Given the description of an element on the screen output the (x, y) to click on. 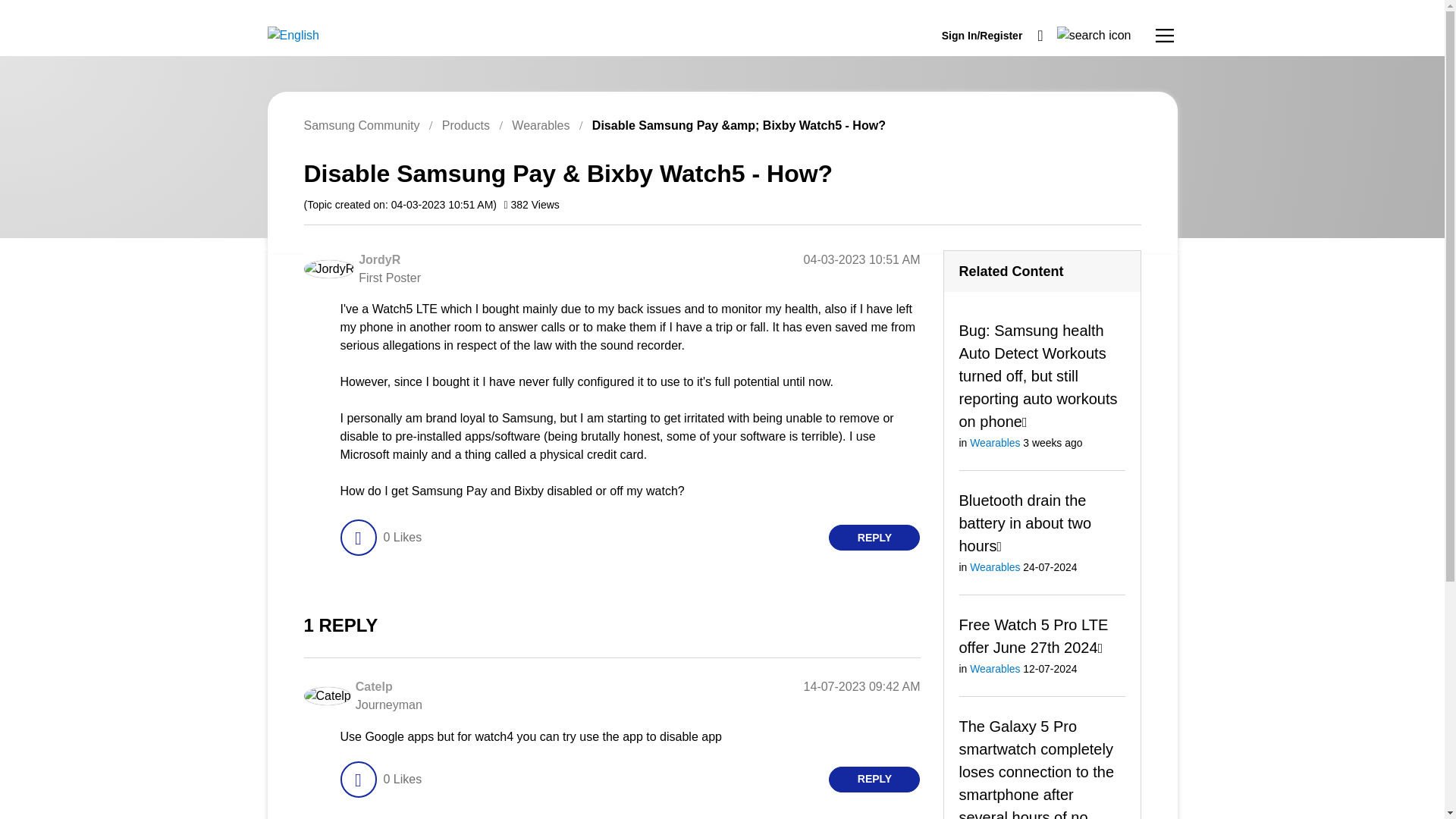
Wearables (540, 124)
Wearables (994, 442)
Products (465, 124)
Samsung Community (360, 124)
JordyR (379, 259)
The total number of likes this post has received. (401, 537)
English (292, 35)
JordyR (327, 269)
Community (1164, 35)
